Given the description of an element on the screen output the (x, y) to click on. 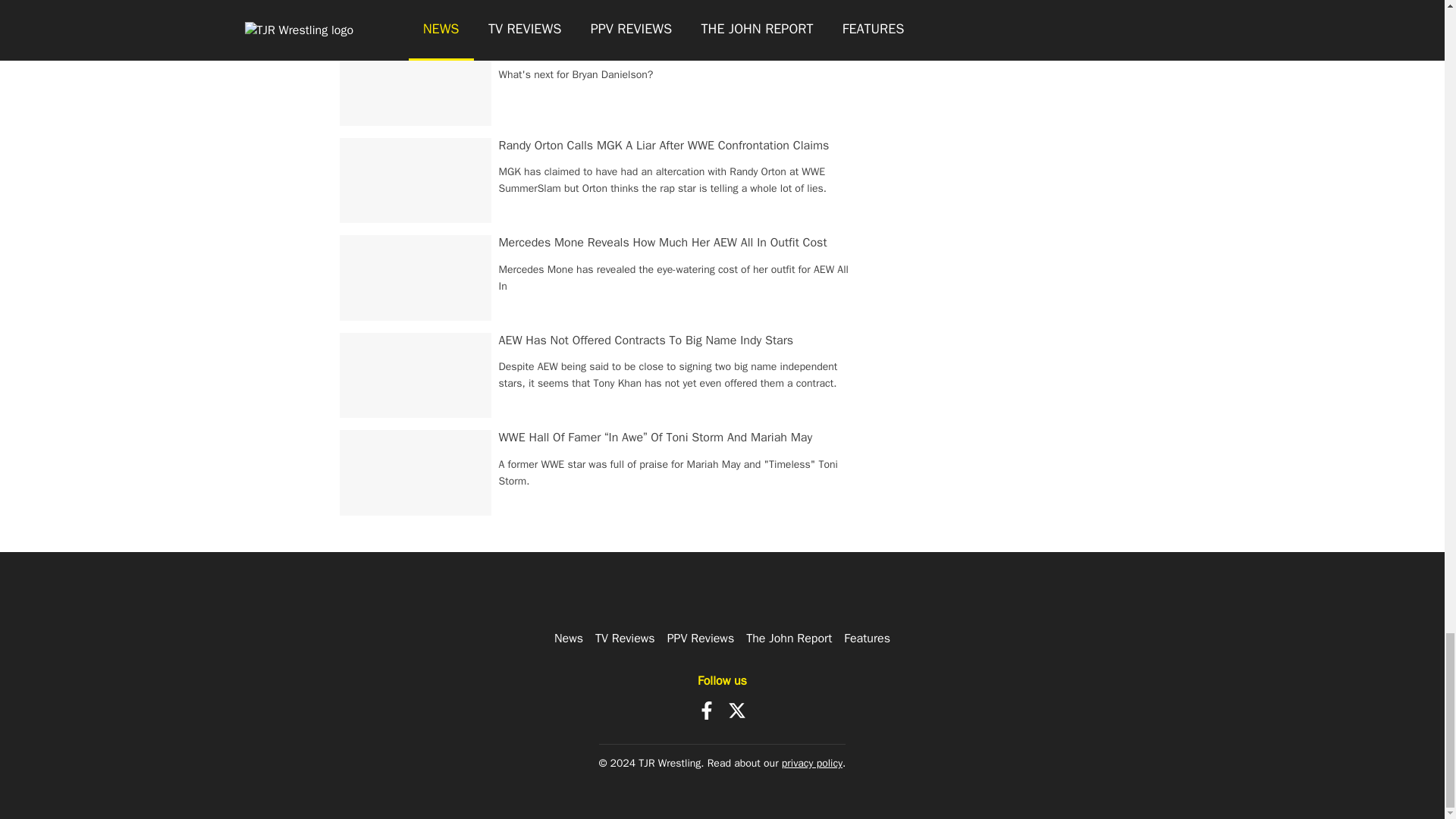
AEW Has Not Offered Contracts To Big Name Indy Stars (646, 340)
X (736, 710)
Randy Orton Calls MGK A Liar After WWE Confrontation Claims (664, 145)
Facebook (706, 710)
Bryan Danielson To Address AEW Future (605, 47)
Mercedes Mone Reveals How Much Her AEW All In Outfit Cost (663, 242)
